Given the description of an element on the screen output the (x, y) to click on. 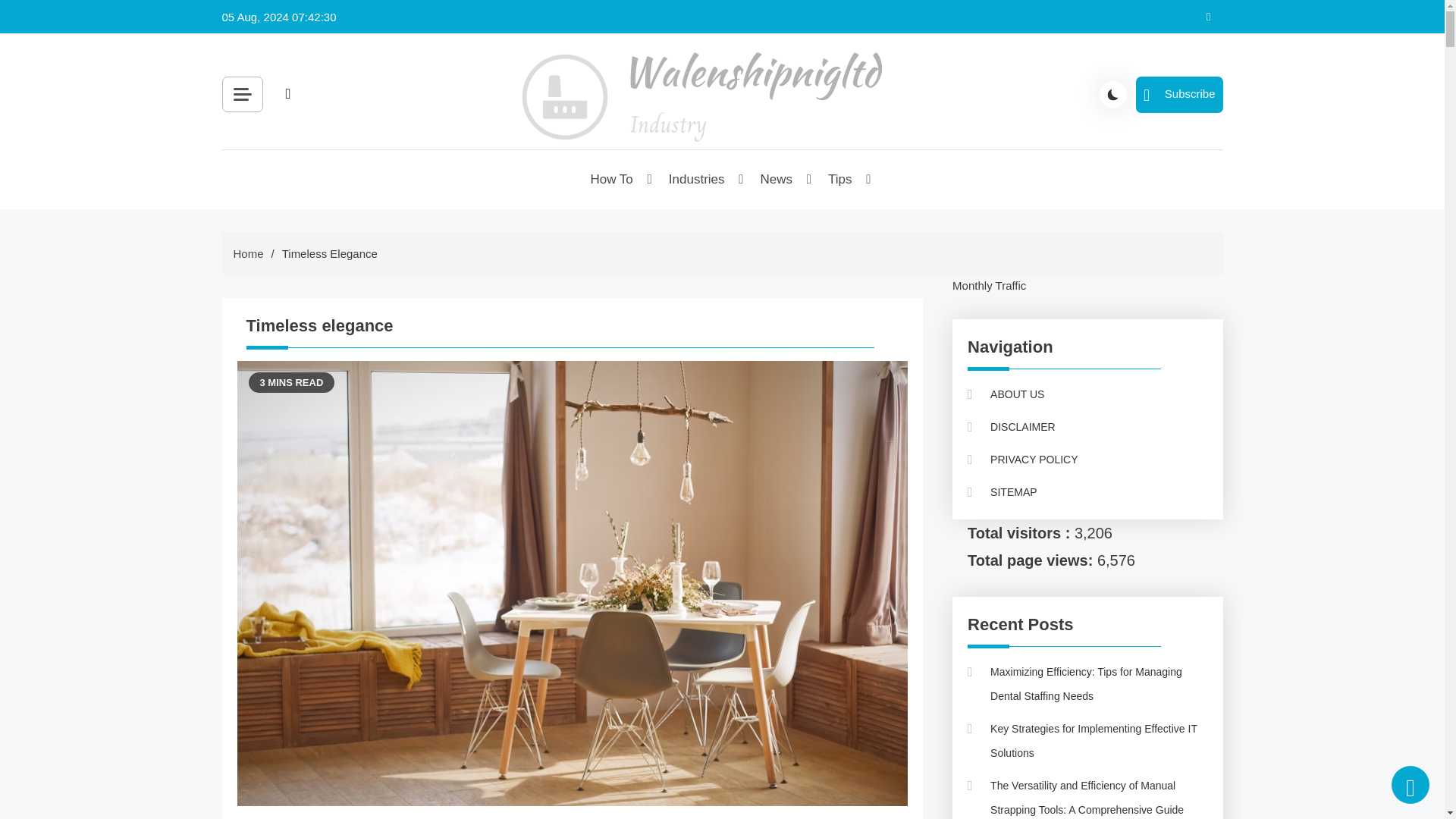
Search (458, 128)
Walenshipnigltd (608, 169)
Home (247, 253)
How To (611, 179)
site mode button (1112, 93)
Subscribe (1179, 94)
Industries (698, 179)
Tips (840, 179)
News (778, 179)
